Given the description of an element on the screen output the (x, y) to click on. 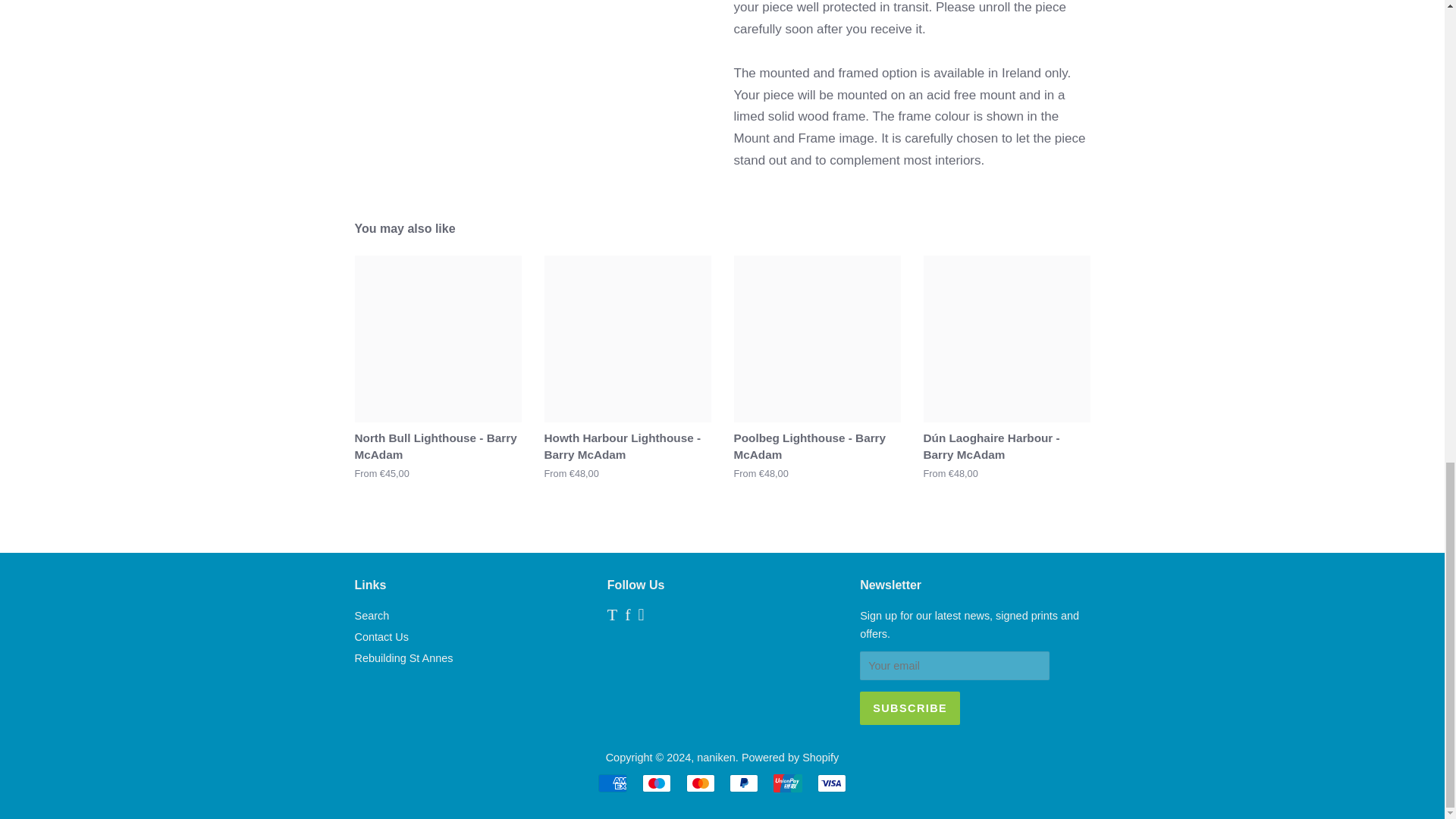
Contact Us (382, 636)
Subscribe (909, 707)
PayPal (743, 782)
Union Pay (787, 782)
Maestro (656, 782)
Visa (830, 782)
Search (372, 615)
Rebuilding St Annes (403, 657)
Mastercard (699, 782)
American Express (612, 782)
